Given the description of an element on the screen output the (x, y) to click on. 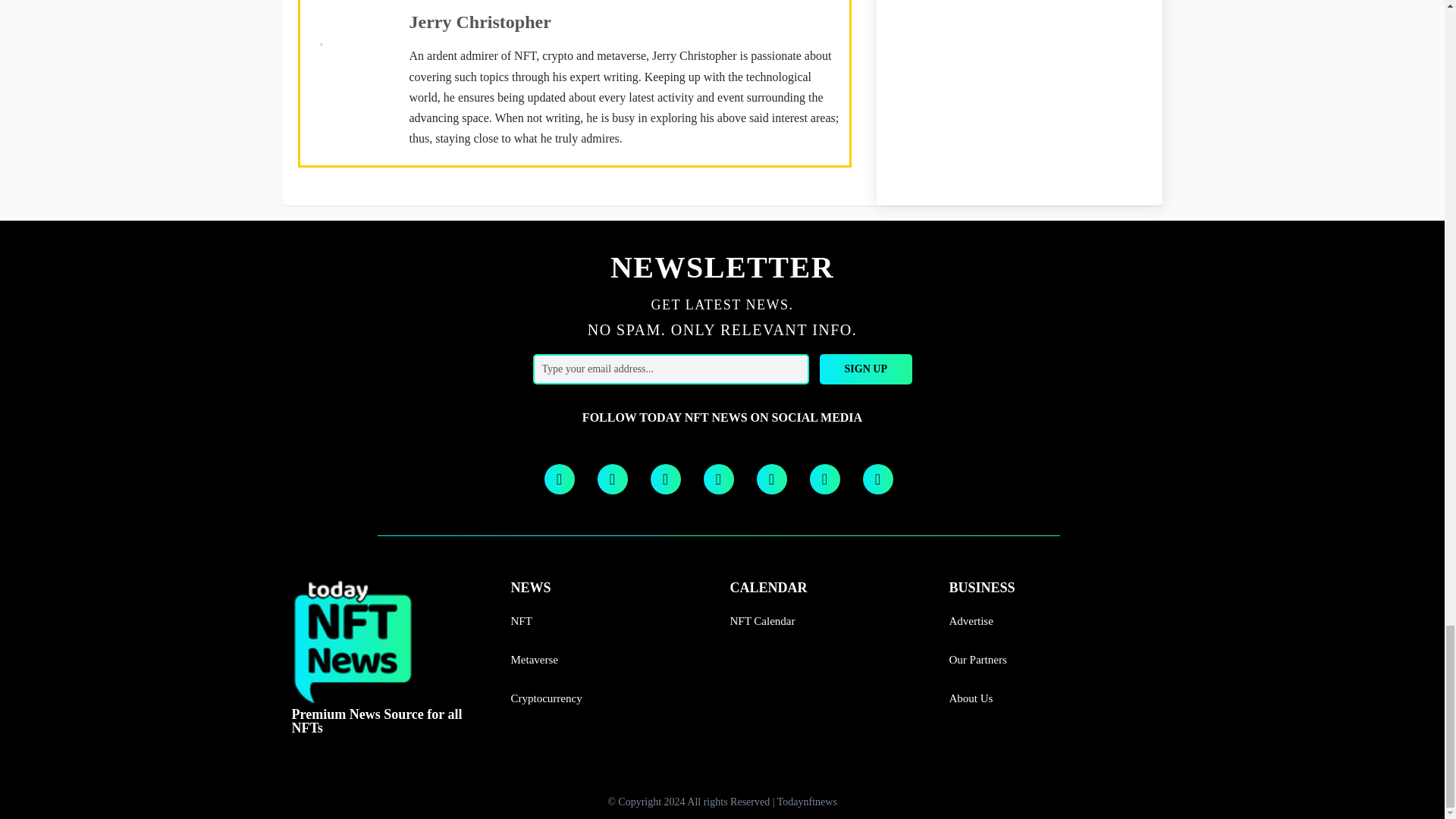
SIGN UP (865, 368)
